Given the description of an element on the screen output the (x, y) to click on. 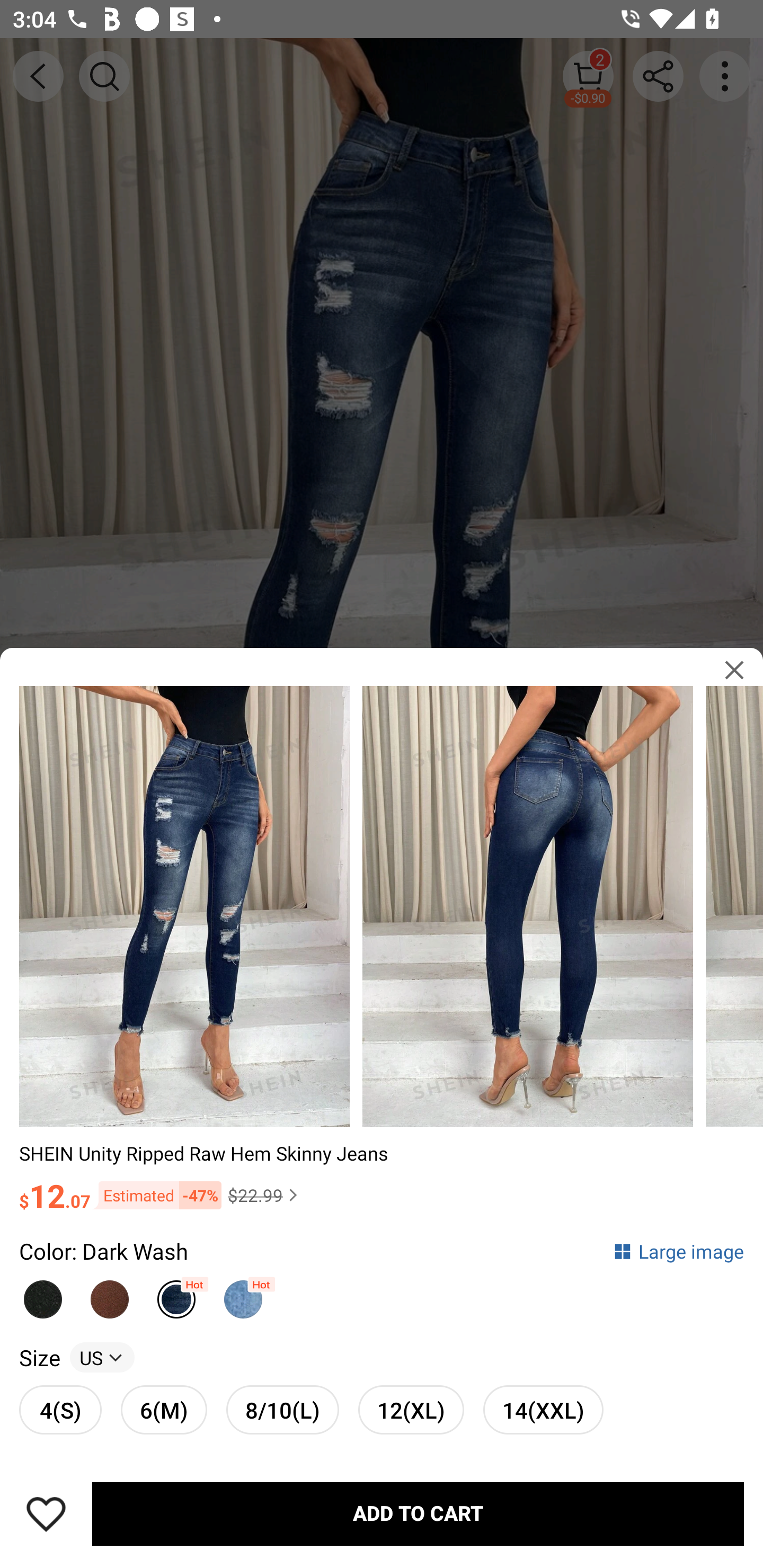
Estimated -47% (155, 1194)
$22.99 (265, 1195)
Color: Dark Wash (103, 1250)
Large image (677, 1250)
Black (42, 1294)
Coffee Brown (109, 1294)
Dark Wash (176, 1294)
Light Wash (242, 1294)
Size (39, 1357)
US (102, 1357)
4(S) 4(S)unselected option (60, 1409)
6(M) 6(M)unselected option (163, 1409)
8/10(L) 8/10(L)unselected option (282, 1409)
12(XL) 12(XL)unselected option (410, 1409)
14(XXL) 14(XXL)unselected option (542, 1409)
ADD TO CART (417, 1513)
Save (46, 1513)
